Given the description of an element on the screen output the (x, y) to click on. 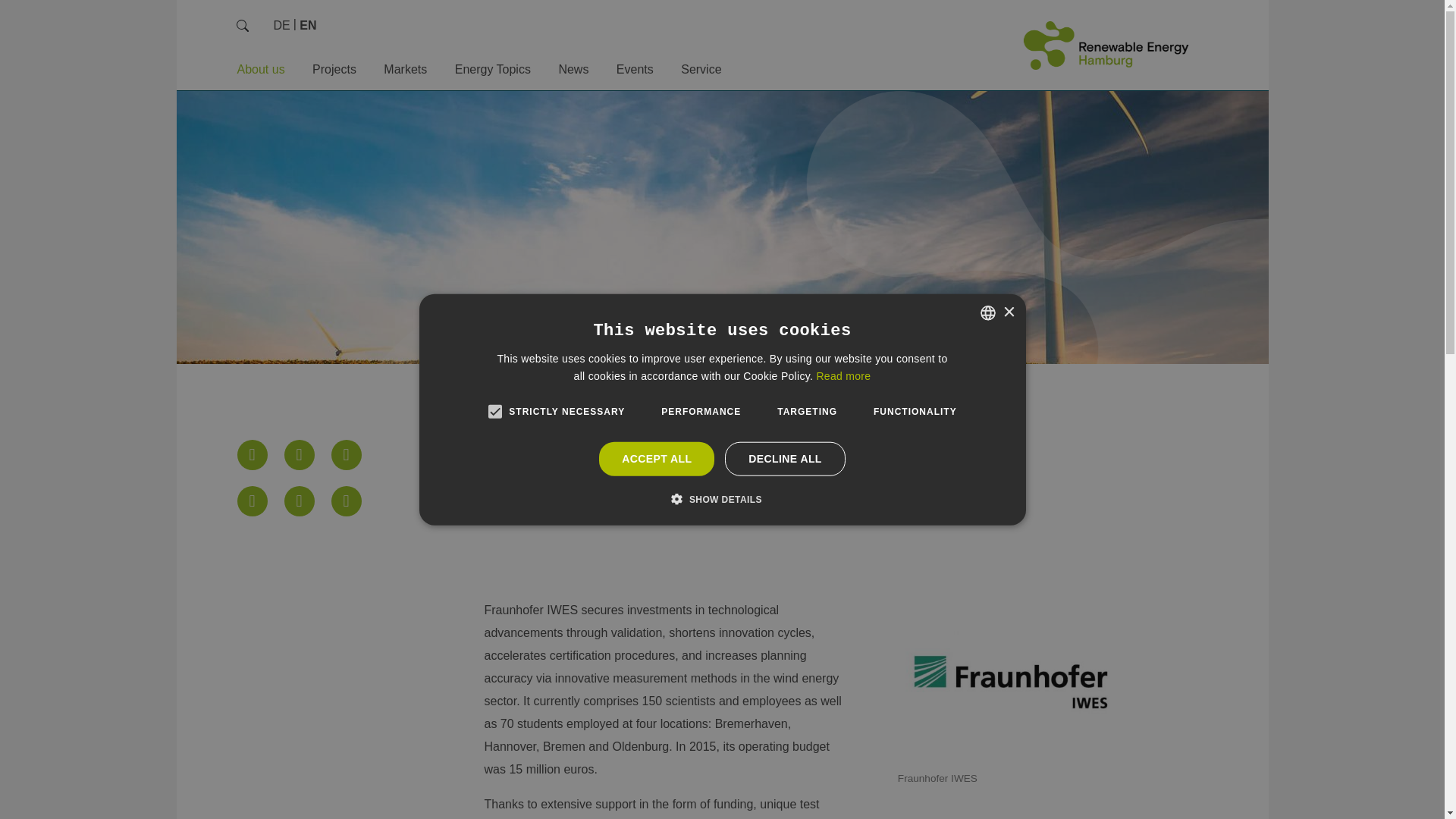
Markets (405, 69)
News (572, 69)
Projects (334, 69)
Markets (405, 69)
Details (281, 24)
Events (634, 69)
DE (281, 24)
Energy Topics (492, 69)
About us (259, 69)
